Given the description of an element on the screen output the (x, y) to click on. 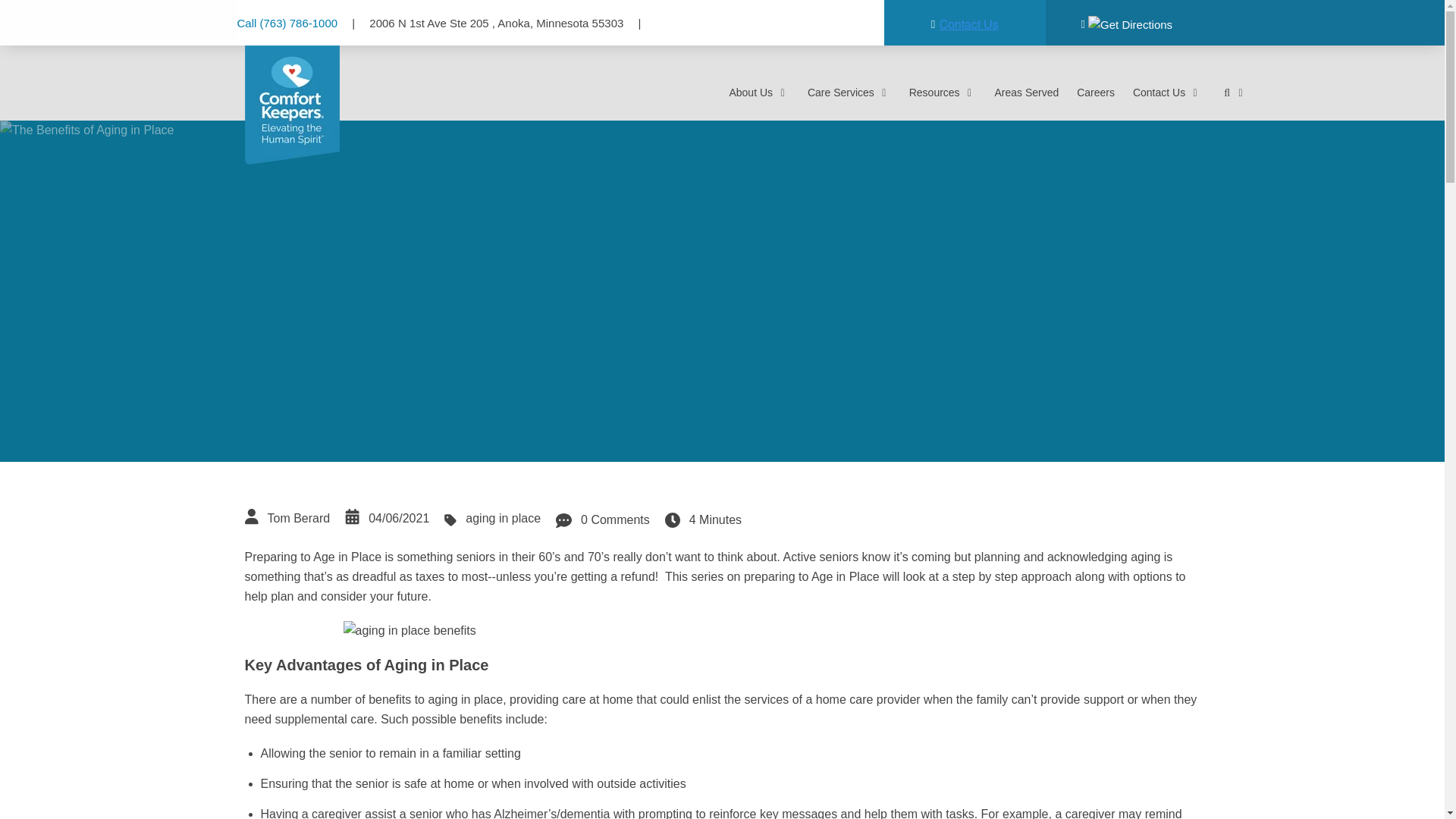
Contact Us (1167, 92)
Resources (942, 92)
Areas Served (1026, 92)
About Us (759, 92)
Careers (1096, 92)
Care Services (849, 92)
